Given the description of an element on the screen output the (x, y) to click on. 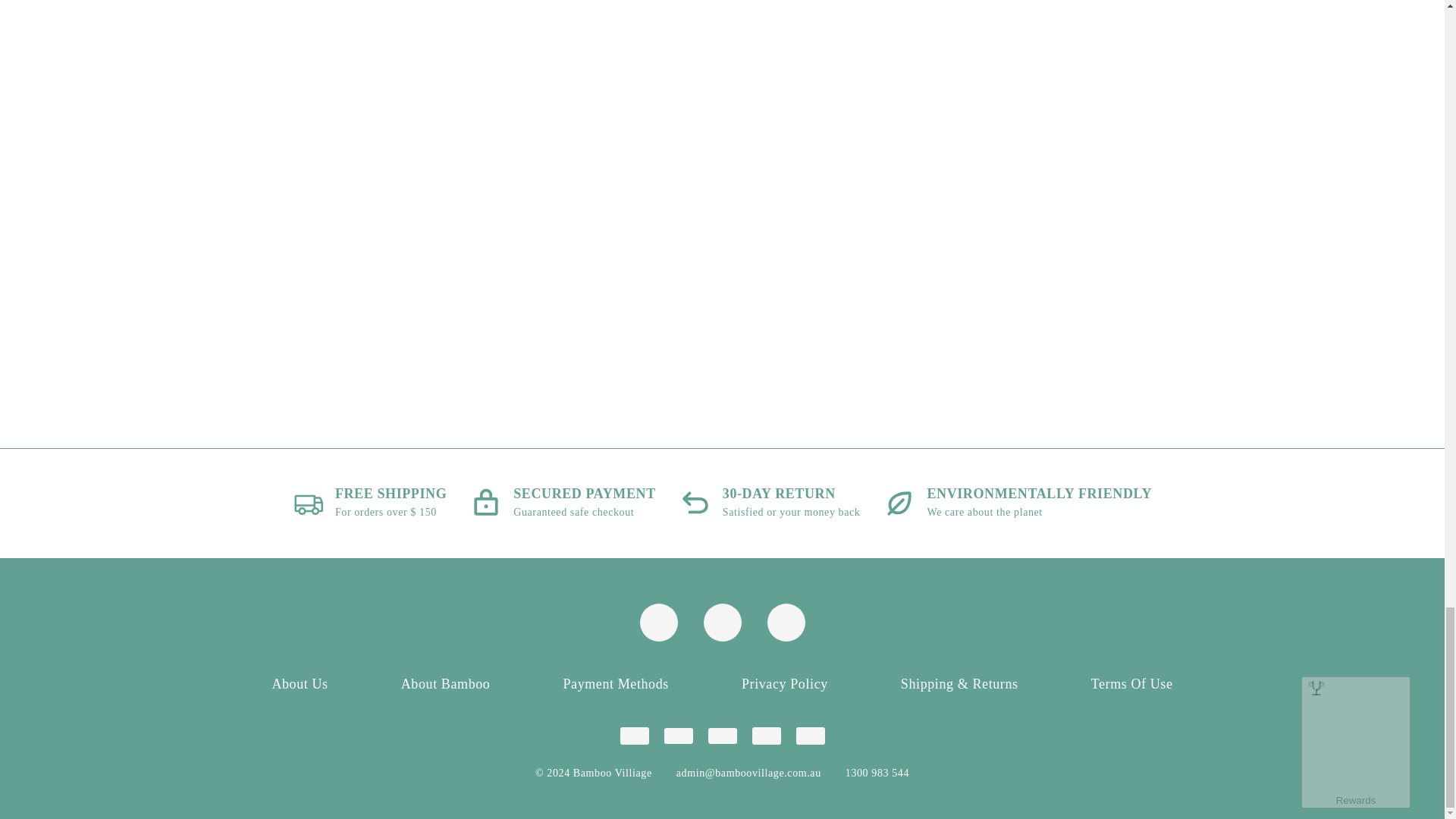
Image Title (766, 735)
Image Title (722, 622)
Image Title (659, 621)
Image Title (722, 621)
Image Title (721, 735)
Image Title (659, 622)
Image Title (786, 622)
Image Title (634, 735)
Image Title (786, 621)
Image Title (678, 735)
Image Title (810, 735)
